Given the description of an element on the screen output the (x, y) to click on. 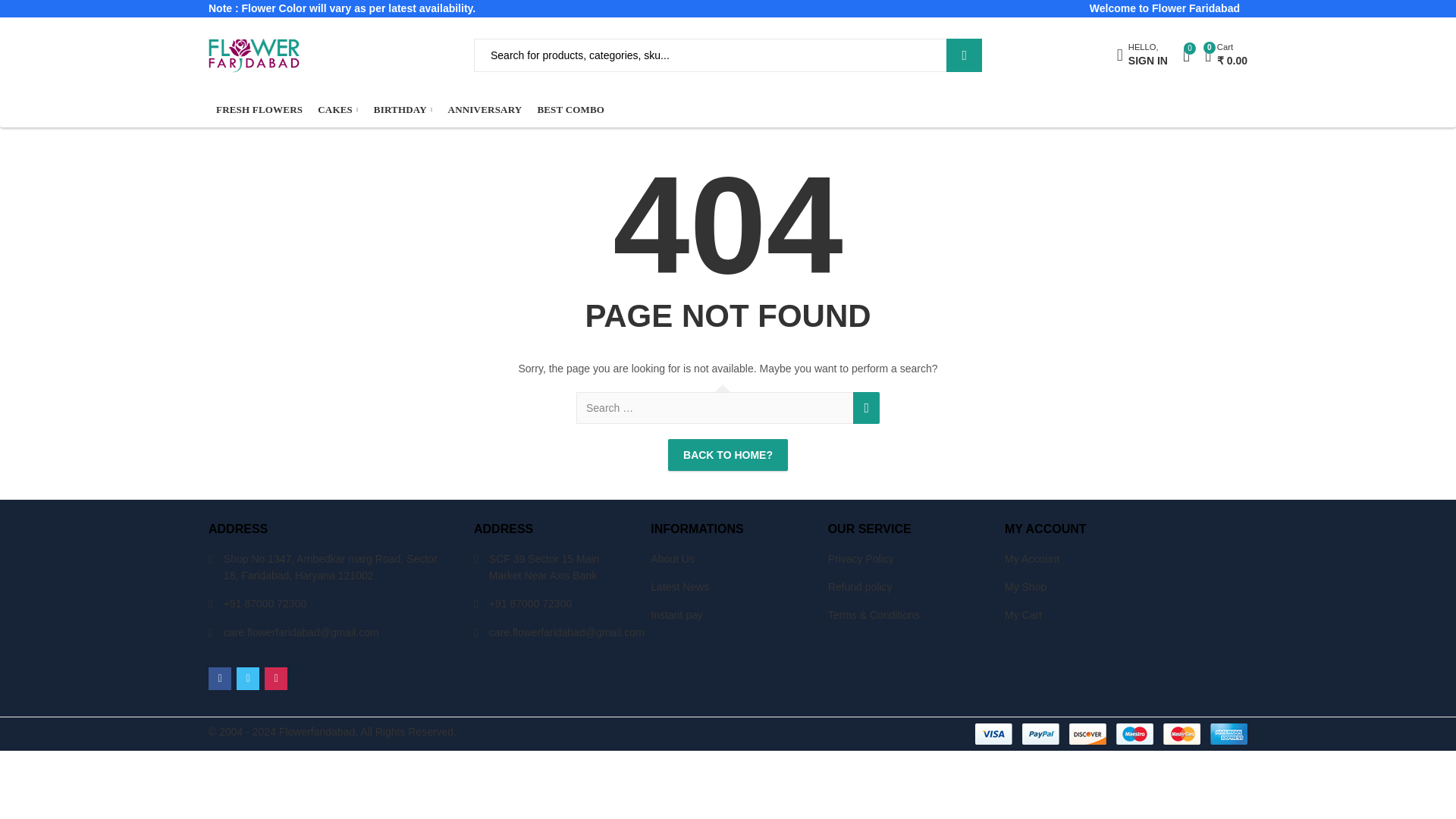
BIRTHDAY (1141, 55)
FRESH FLOWERS (403, 110)
CAKES (259, 110)
SEARCH (338, 110)
